Given the description of an element on the screen output the (x, y) to click on. 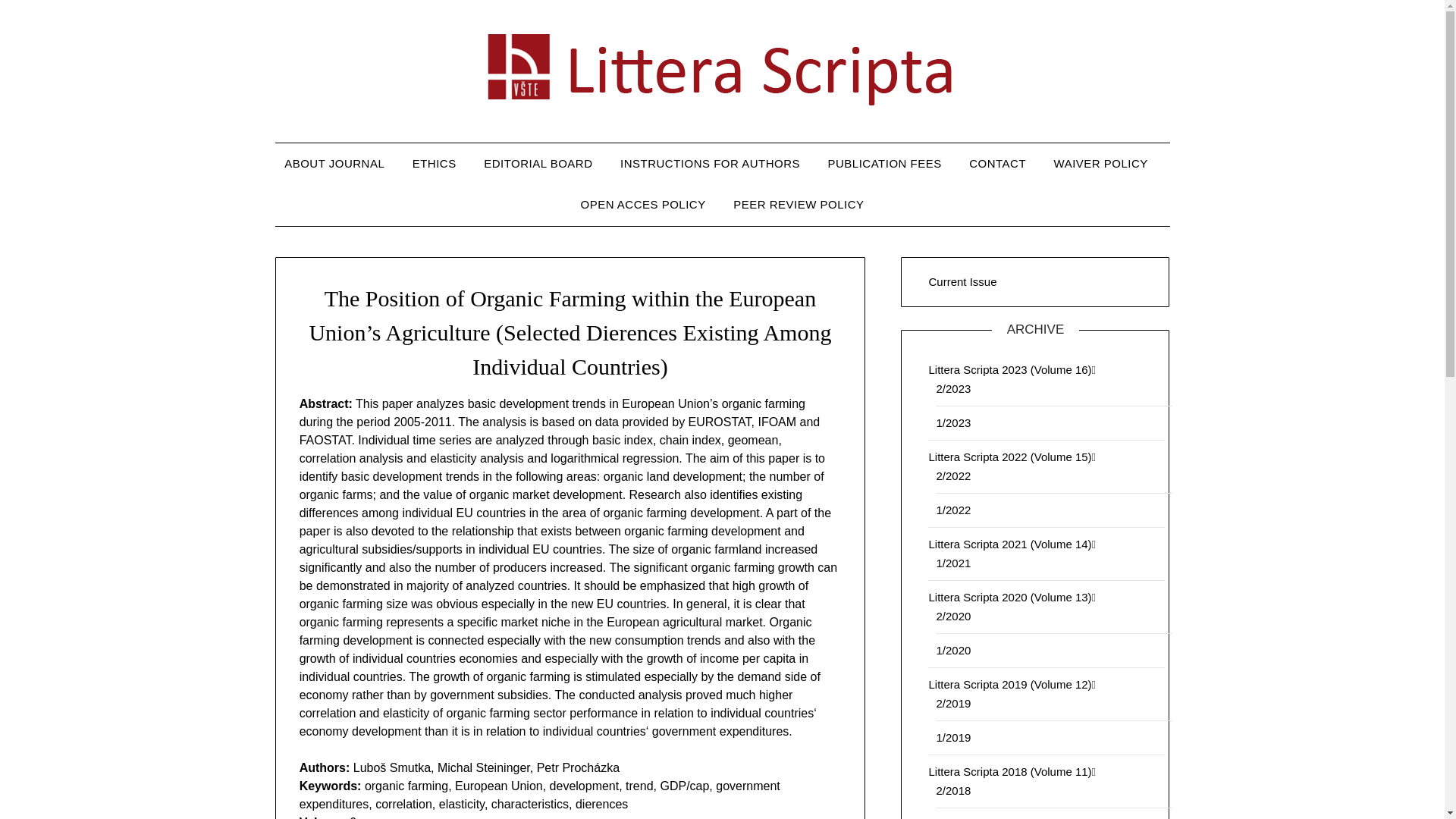
PUBLICATION FEES (884, 163)
ETHICS (434, 163)
PEER REVIEW POLICY (798, 204)
CONTACT (997, 163)
EDITORIAL BOARD (537, 163)
Current Issue (961, 281)
OPEN ACCES POLICY (642, 204)
ABOUT JOURNAL (339, 163)
WAIVER POLICY (1101, 163)
INSTRUCTIONS FOR AUTHORS (710, 163)
